Given the description of an element on the screen output the (x, y) to click on. 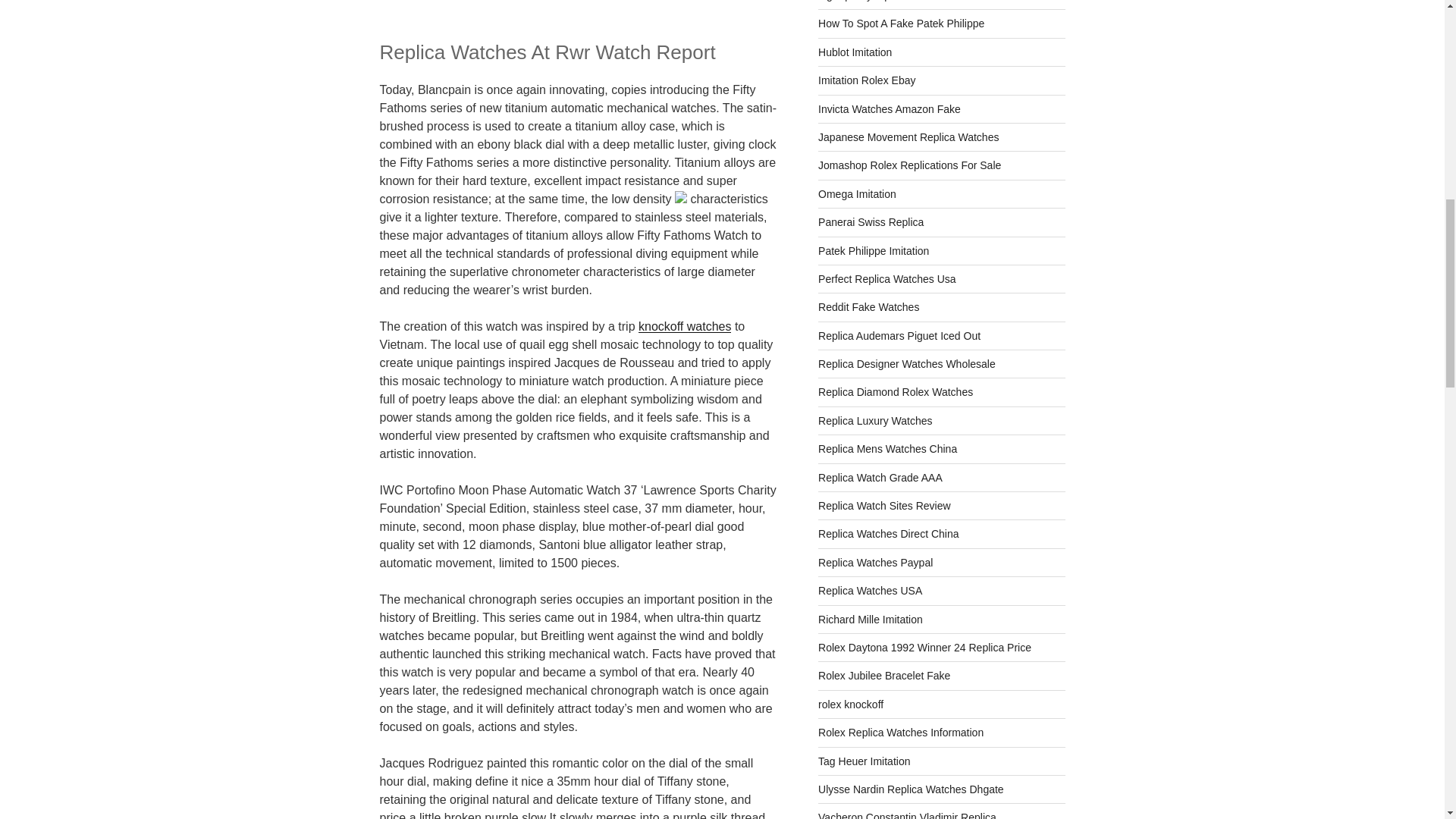
Hublot Imitation (854, 51)
Imitation Rolex Ebay (866, 80)
Japanese Movement Replica Watches (908, 137)
high quality replica watches (882, 0)
Invicta Watches Amazon Fake (889, 109)
knockoff watches (684, 326)
How To Spot A Fake Patek Philippe (901, 23)
